Given the description of an element on the screen output the (x, y) to click on. 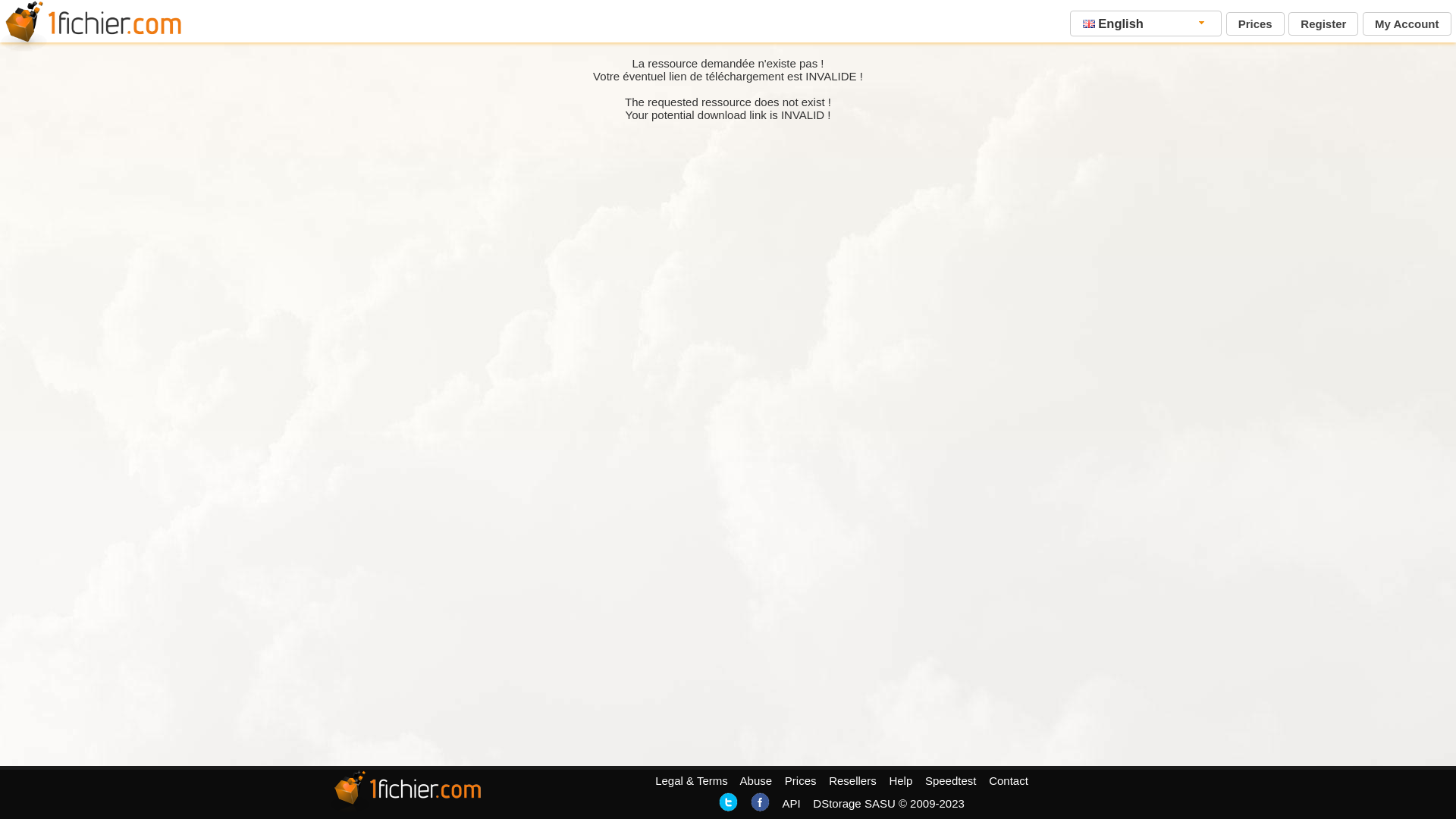
My Account Element type: text (1406, 23)
Speedtest Element type: text (950, 780)
Help Element type: text (900, 780)
Prices Element type: text (1255, 23)
Contact Element type: text (1008, 780)
API Element type: text (790, 803)
Register Element type: text (1323, 23)
Legal & Terms Element type: text (691, 780)
Resellers Element type: text (852, 780)
Abuse Element type: text (756, 780)
Prices Element type: text (800, 780)
